Given the description of an element on the screen output the (x, y) to click on. 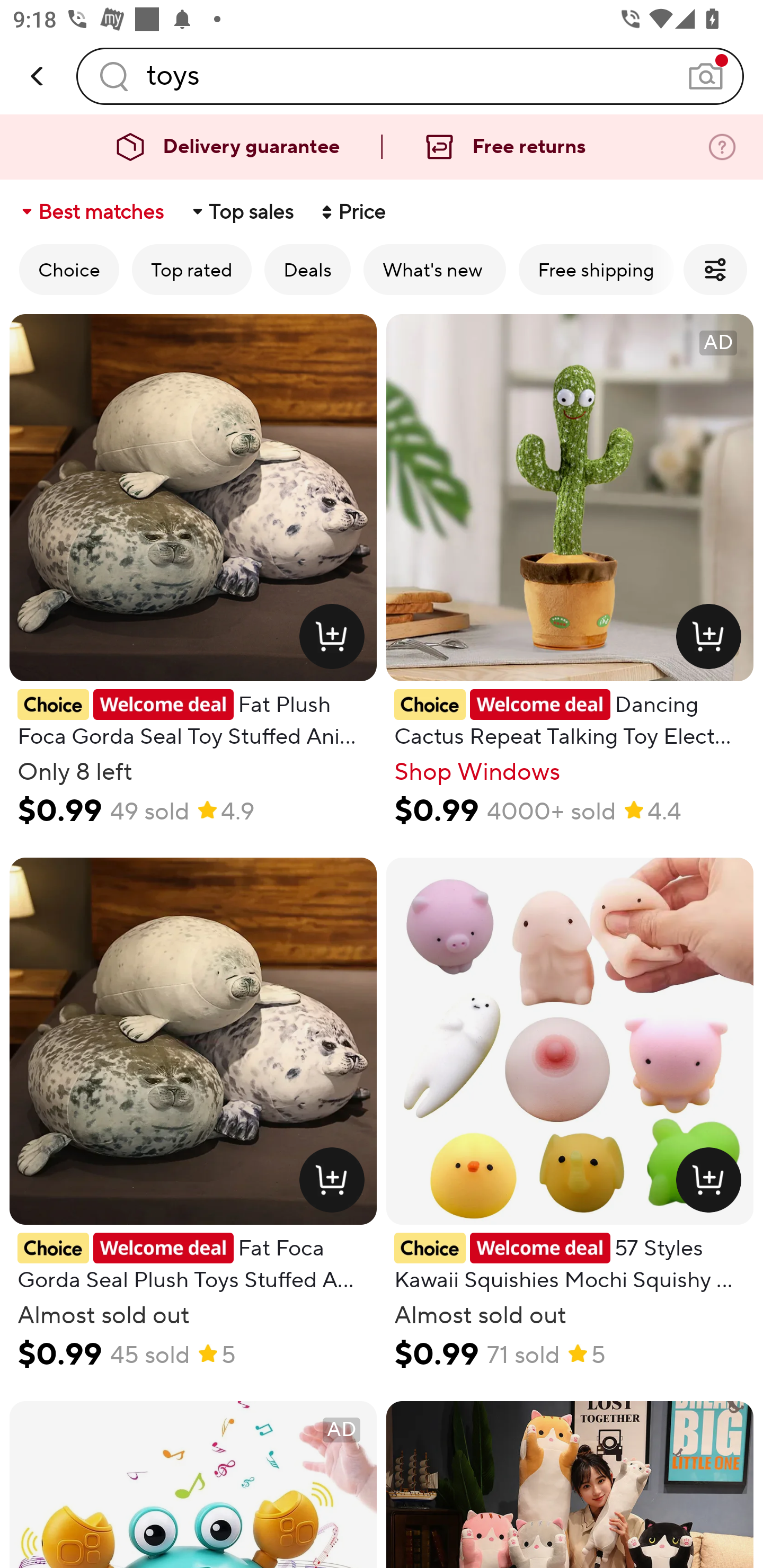
back (38, 75)
toys Search query (409, 76)
toys Search query (409, 76)
Best matches (91, 212)
Top sales (241, 212)
Price (352, 212)
Choice (69, 269)
Top rated (191, 269)
Deals (307, 269)
What's new  (434, 269)
Free shipping (595, 269)
